Given the description of an element on the screen output the (x, y) to click on. 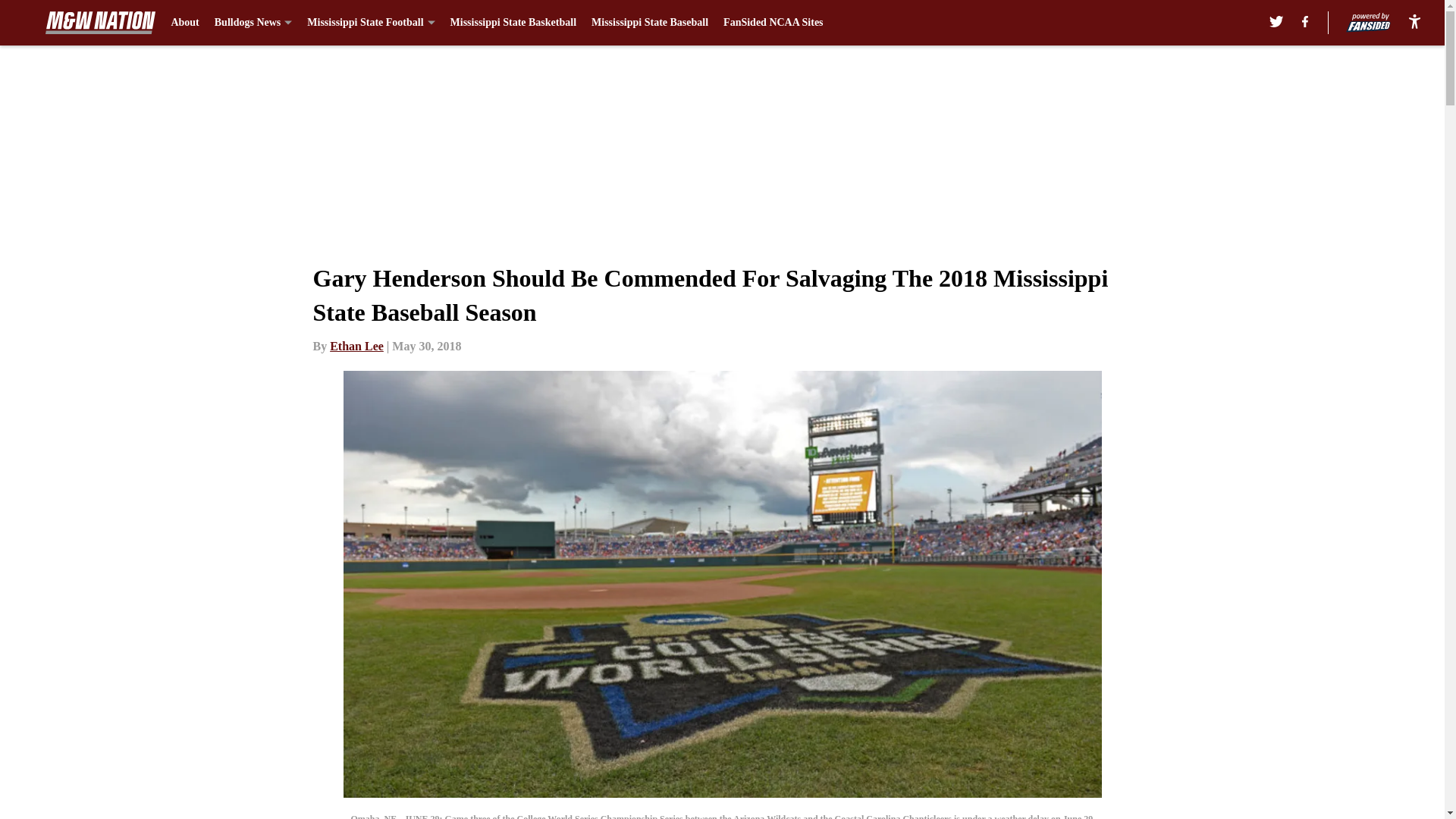
FanSided NCAA Sites (772, 22)
Mississippi State Baseball (649, 22)
Mississippi State Basketball (512, 22)
Ethan Lee (357, 345)
About (184, 22)
